Given the description of an element on the screen output the (x, y) to click on. 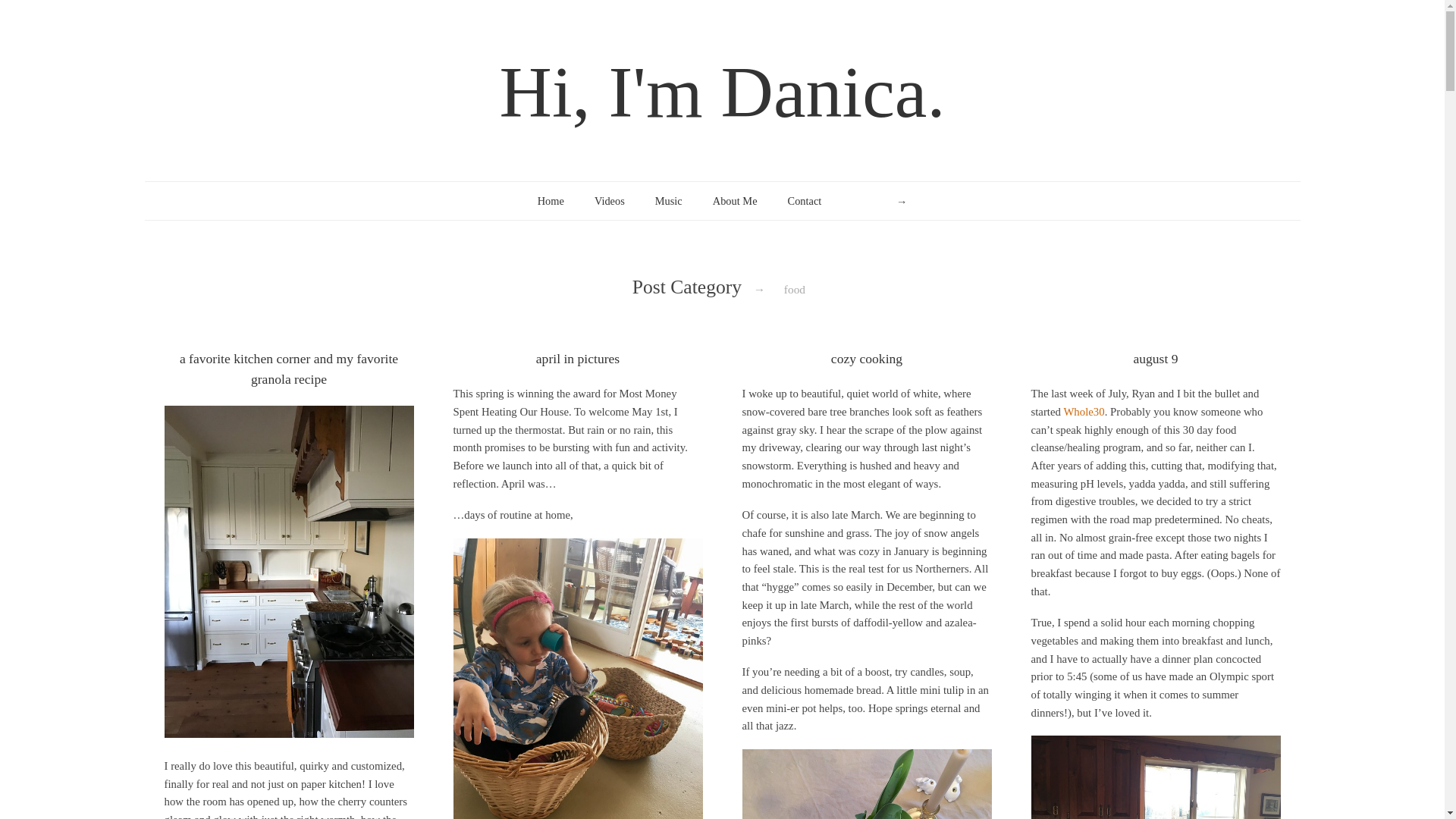
Music (668, 200)
Enter keyword (879, 201)
august 9 (1154, 358)
Hi, I'm Danica. (721, 91)
Home (550, 200)
april in pictures (577, 358)
a favorite kitchen corner and my favorite granola recipe (288, 368)
Contact (804, 200)
cozy cooking (866, 358)
Videos (609, 200)
About Me (735, 200)
